Given the description of an element on the screen output the (x, y) to click on. 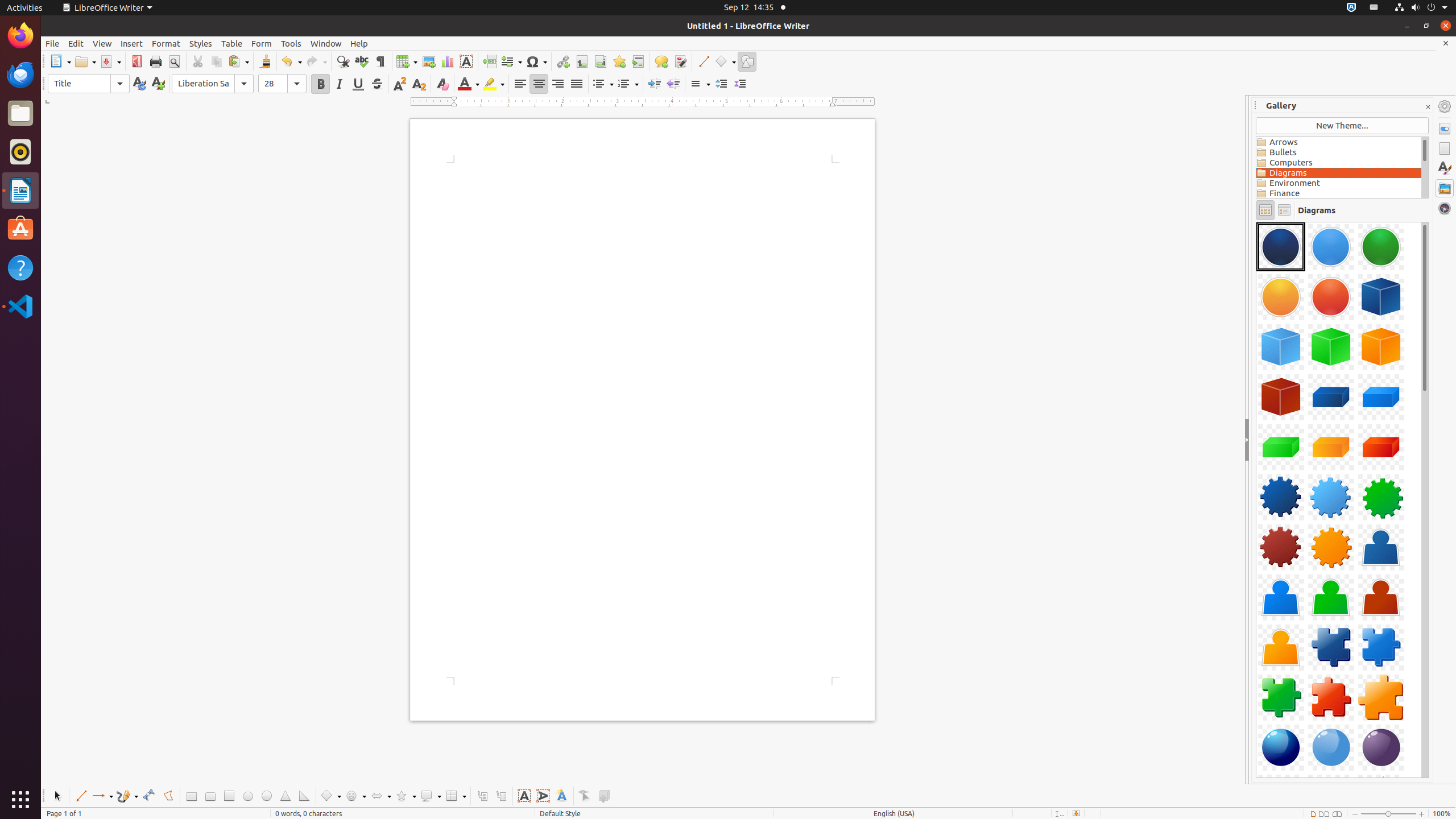
Chart Element type: push-button (446, 61)
Symbol Element type: push-button (535, 61)
Highlight Color Element type: push-button (493, 83)
Ubuntu Software Element type: push-button (20, 229)
Styles Element type: menu (200, 43)
